Given the description of an element on the screen output the (x, y) to click on. 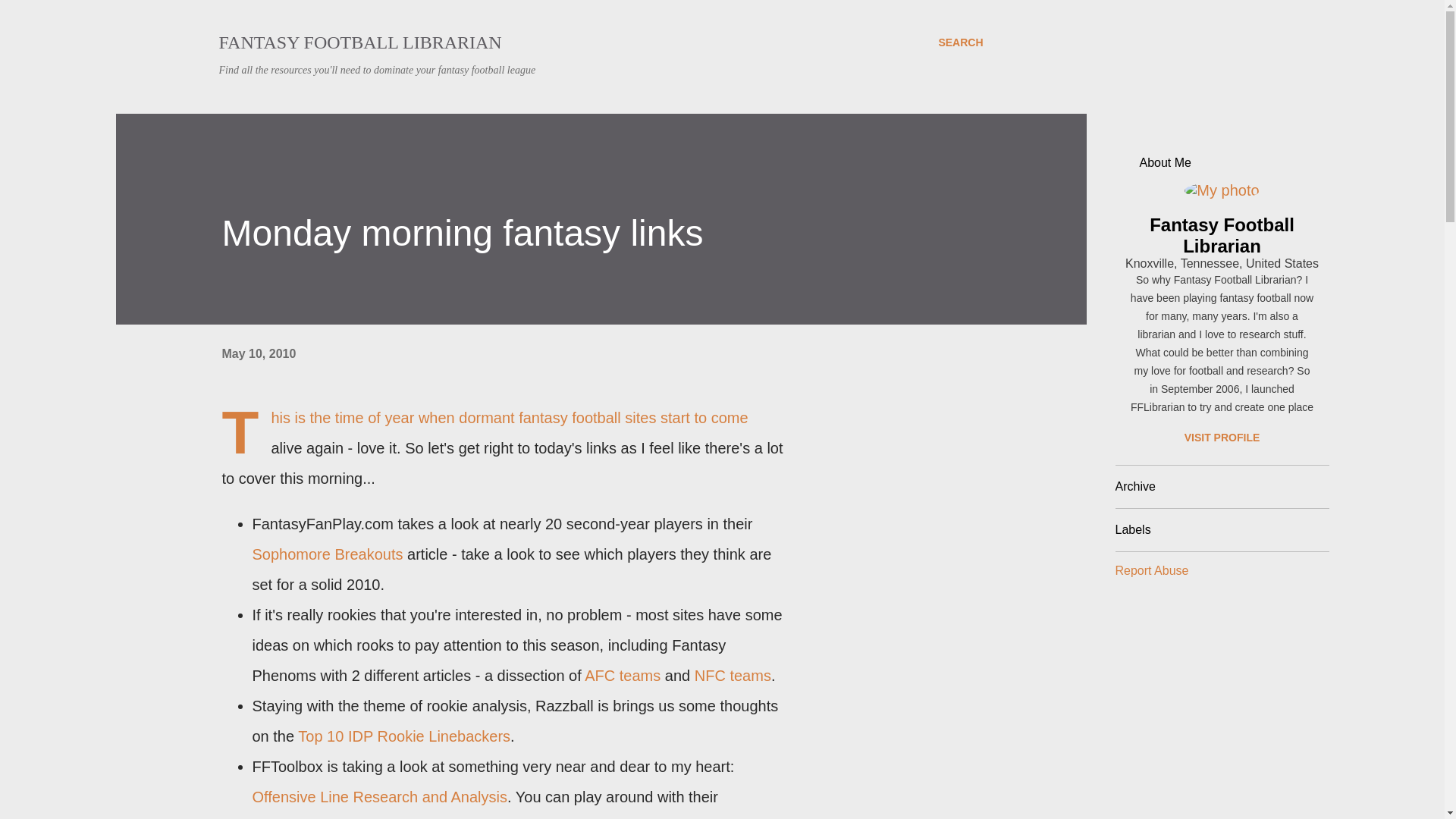
AFC teams (623, 675)
permanent link (258, 353)
Top 10 IDP Rookie Linebackers (404, 736)
NFC teams (732, 675)
May 10, 2010 (258, 353)
SEARCH (959, 42)
FANTASY FOOTBALL LIBRARIAN (359, 42)
Sophomore Breakouts (329, 554)
Offensive Line Research and Analysis (378, 796)
